Given the description of an element on the screen output the (x, y) to click on. 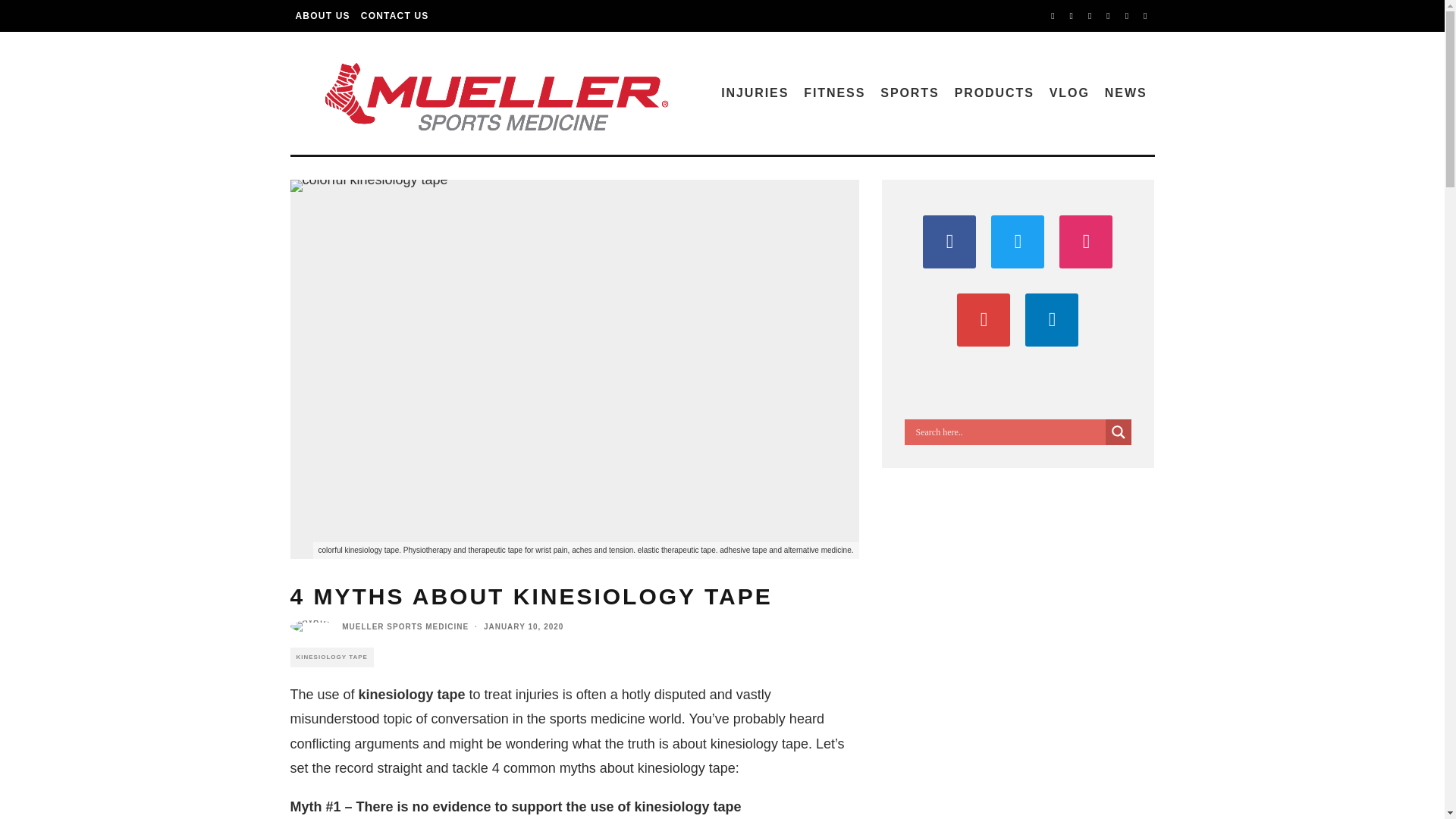
INJURIES (754, 93)
SPORTS (909, 93)
ABOUT US (322, 15)
CONTACT US (394, 15)
FITNESS (834, 93)
